Given the description of an element on the screen output the (x, y) to click on. 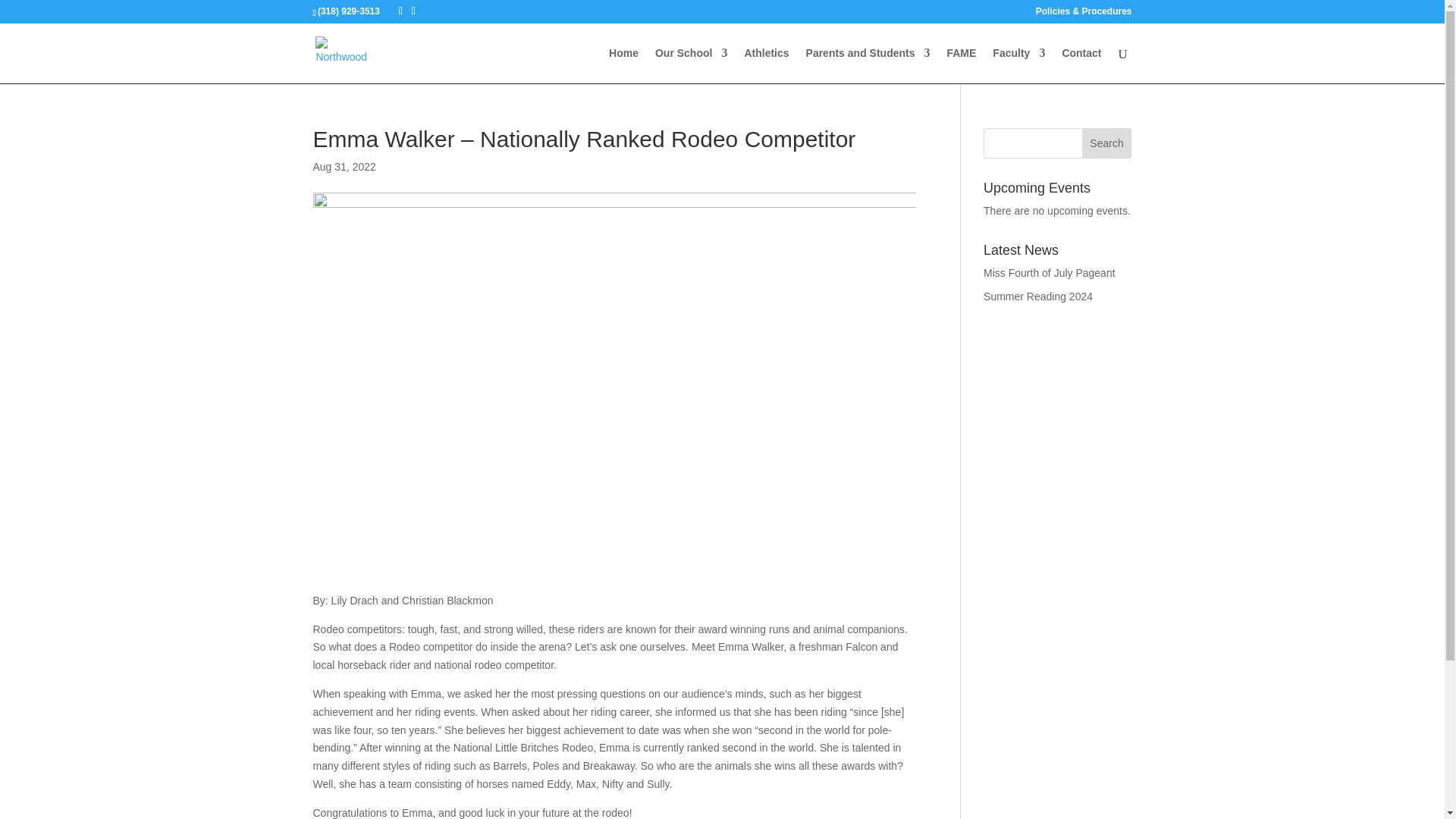
FAME (960, 65)
Search (1106, 142)
Summer Reading 2024 (1038, 296)
Home (623, 65)
Faculty (1018, 65)
Athletics (766, 65)
Parents and Students (868, 65)
Miss Fourth of July Pageant (1049, 272)
Search (1106, 142)
Our School (690, 65)
Contact (1080, 65)
